Given the description of an element on the screen output the (x, y) to click on. 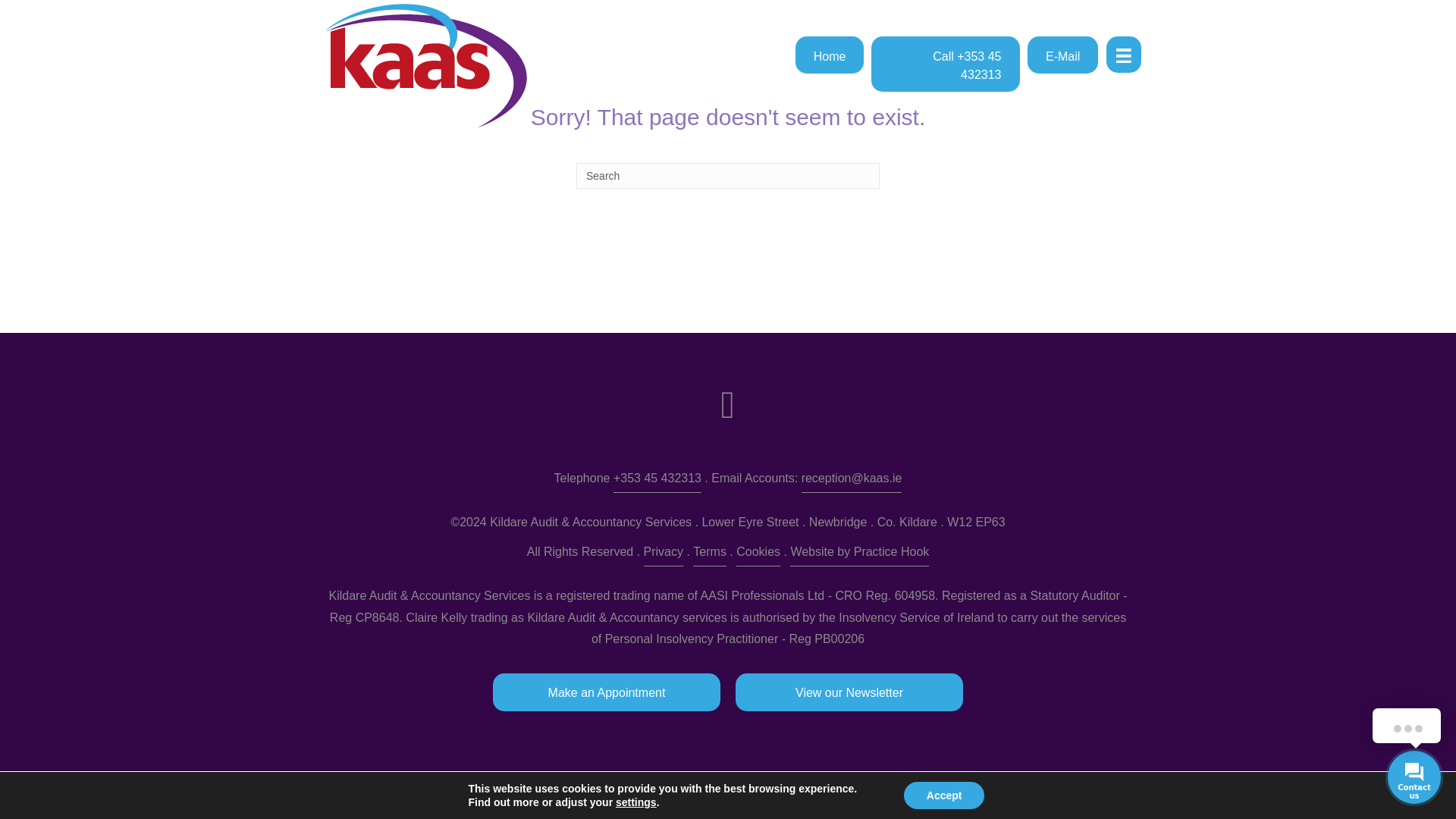
Terms (709, 553)
Home (829, 54)
Privacy (662, 553)
E-Mail (1062, 54)
Cookies (758, 553)
View our Newsletter (848, 692)
Search (727, 175)
Website by Practice Hook (859, 553)
kaas-accountants-logo-1a (426, 65)
Search (727, 175)
